Given the description of an element on the screen output the (x, y) to click on. 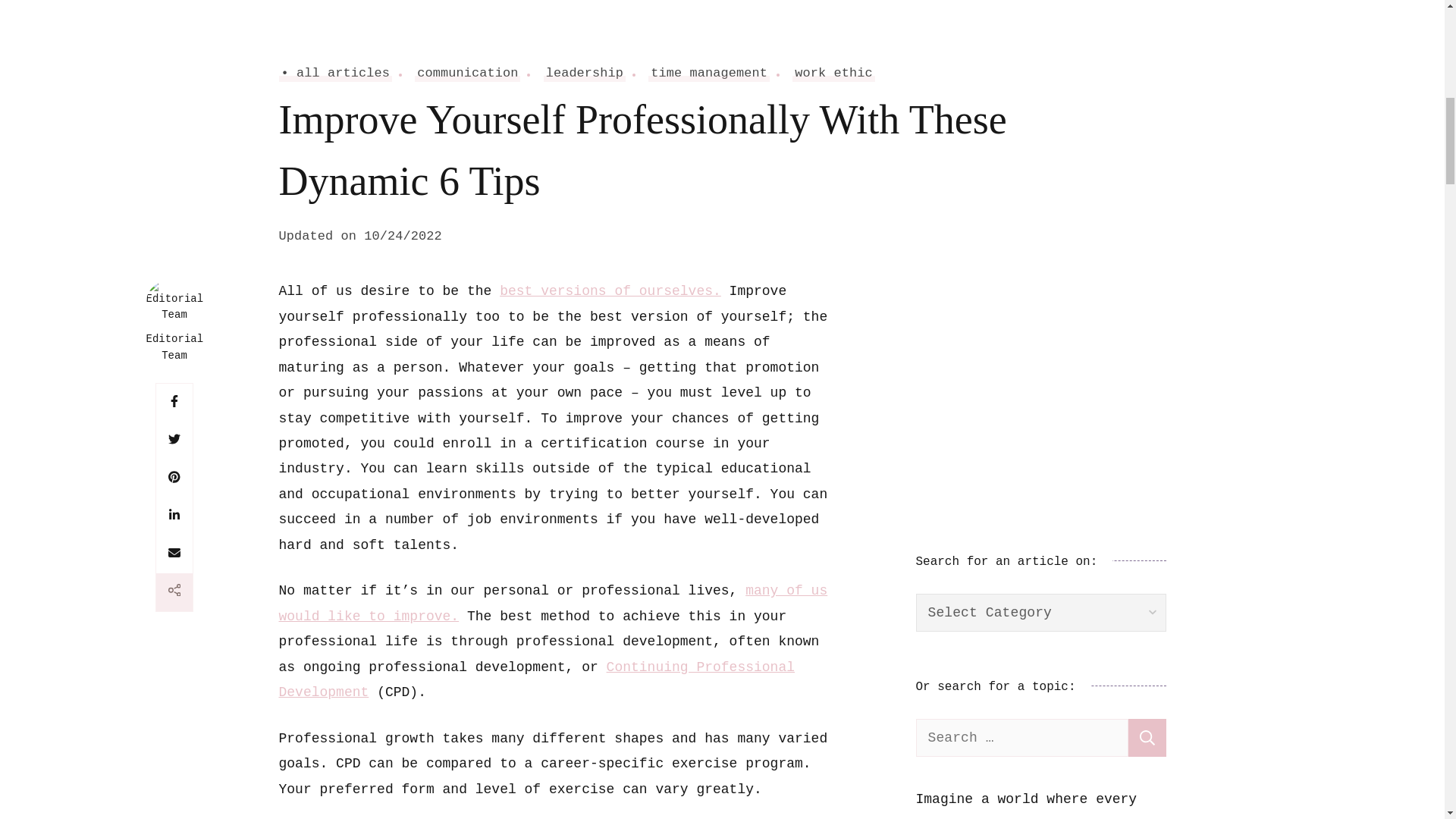
Search (1147, 737)
Search (1147, 737)
